Given the description of an element on the screen output the (x, y) to click on. 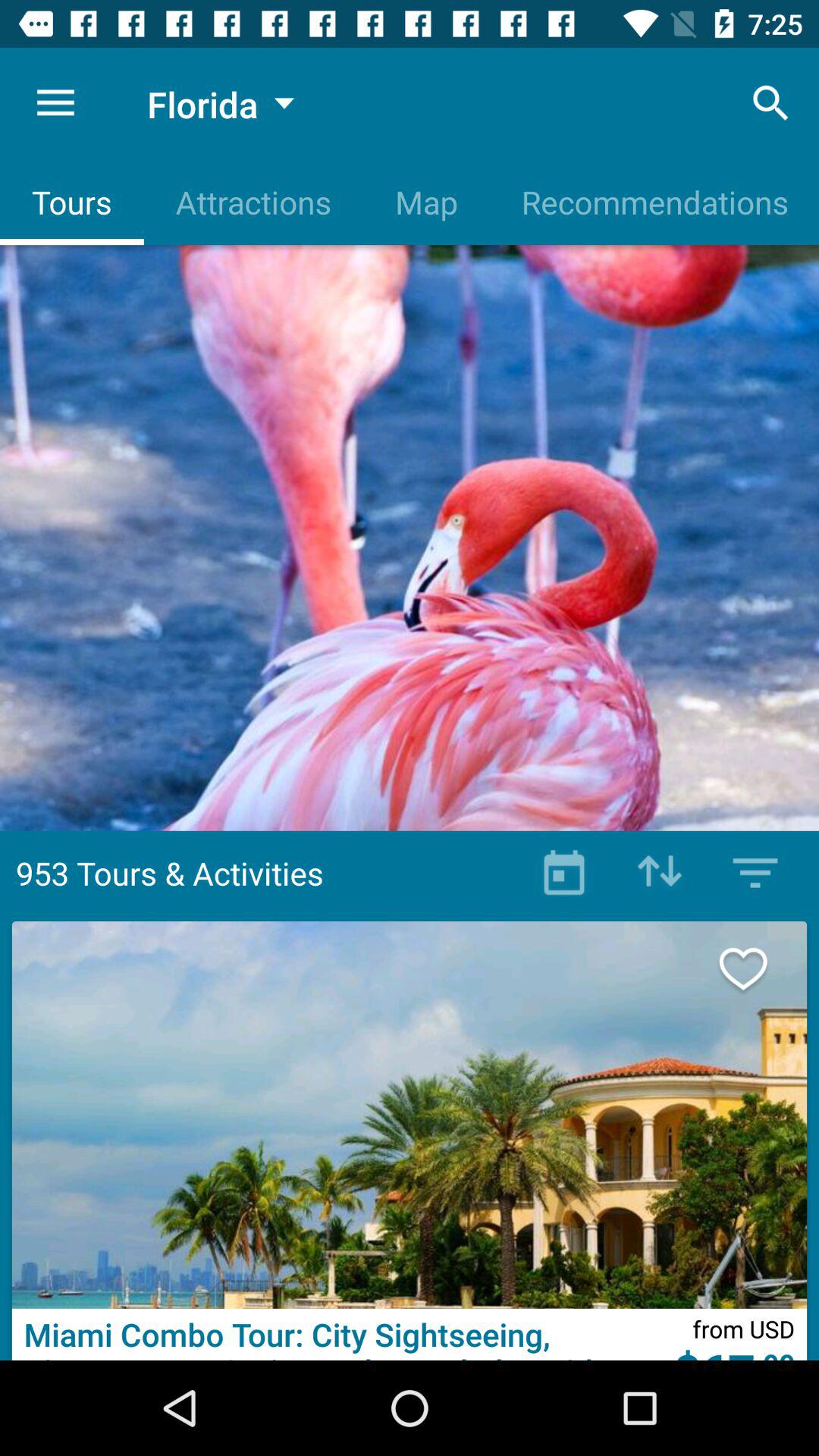
move the button (659, 872)
